Given the description of an element on the screen output the (x, y) to click on. 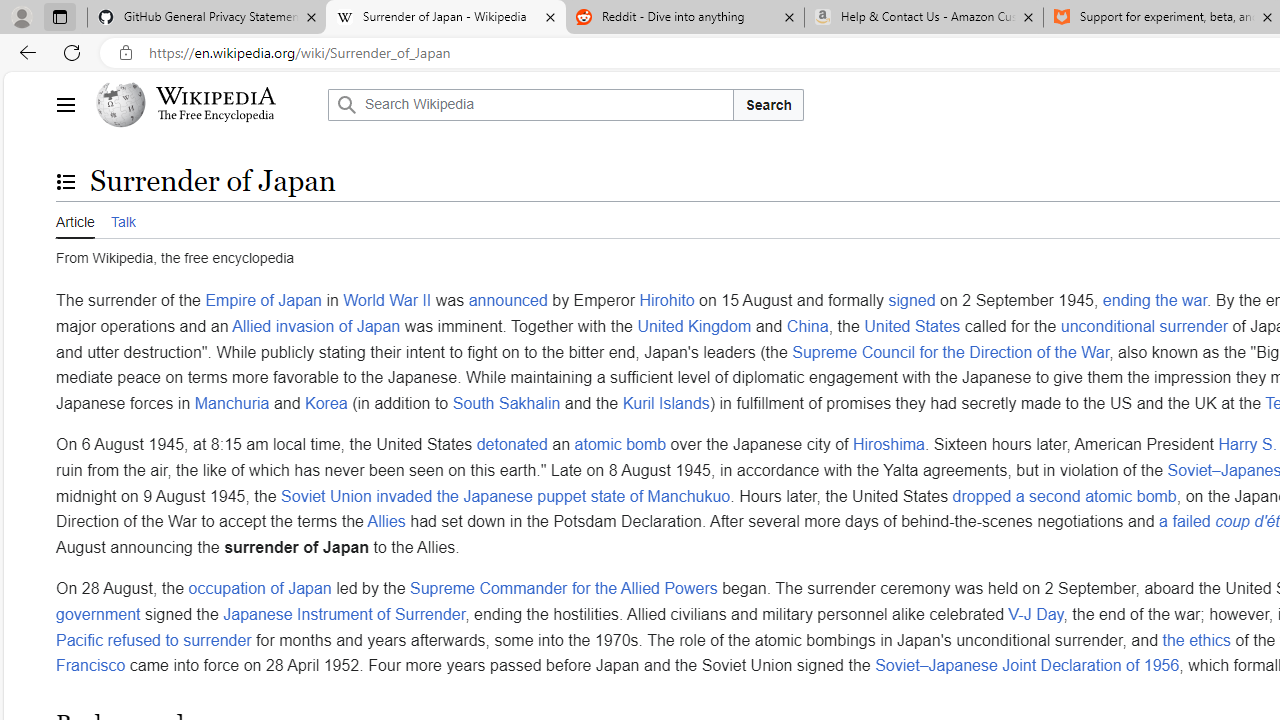
the ethics (1196, 639)
dropped a second atomic bomb (1064, 495)
Main menu (65, 104)
Kuril Islands (666, 402)
